Given the description of an element on the screen output the (x, y) to click on. 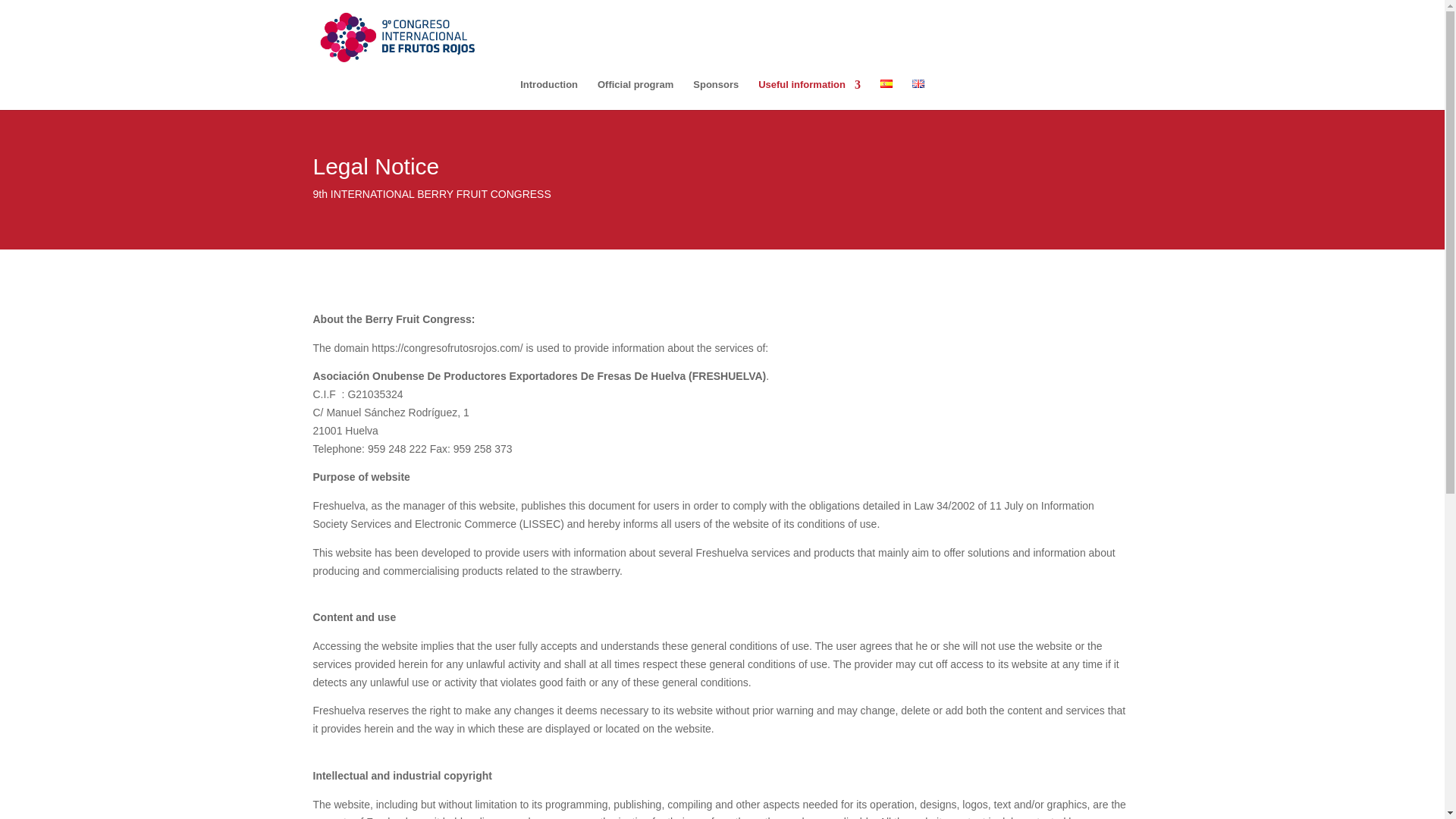
Useful information (809, 94)
Sponsors (715, 94)
Introduction (548, 94)
Official program (634, 94)
